Given the description of an element on the screen output the (x, y) to click on. 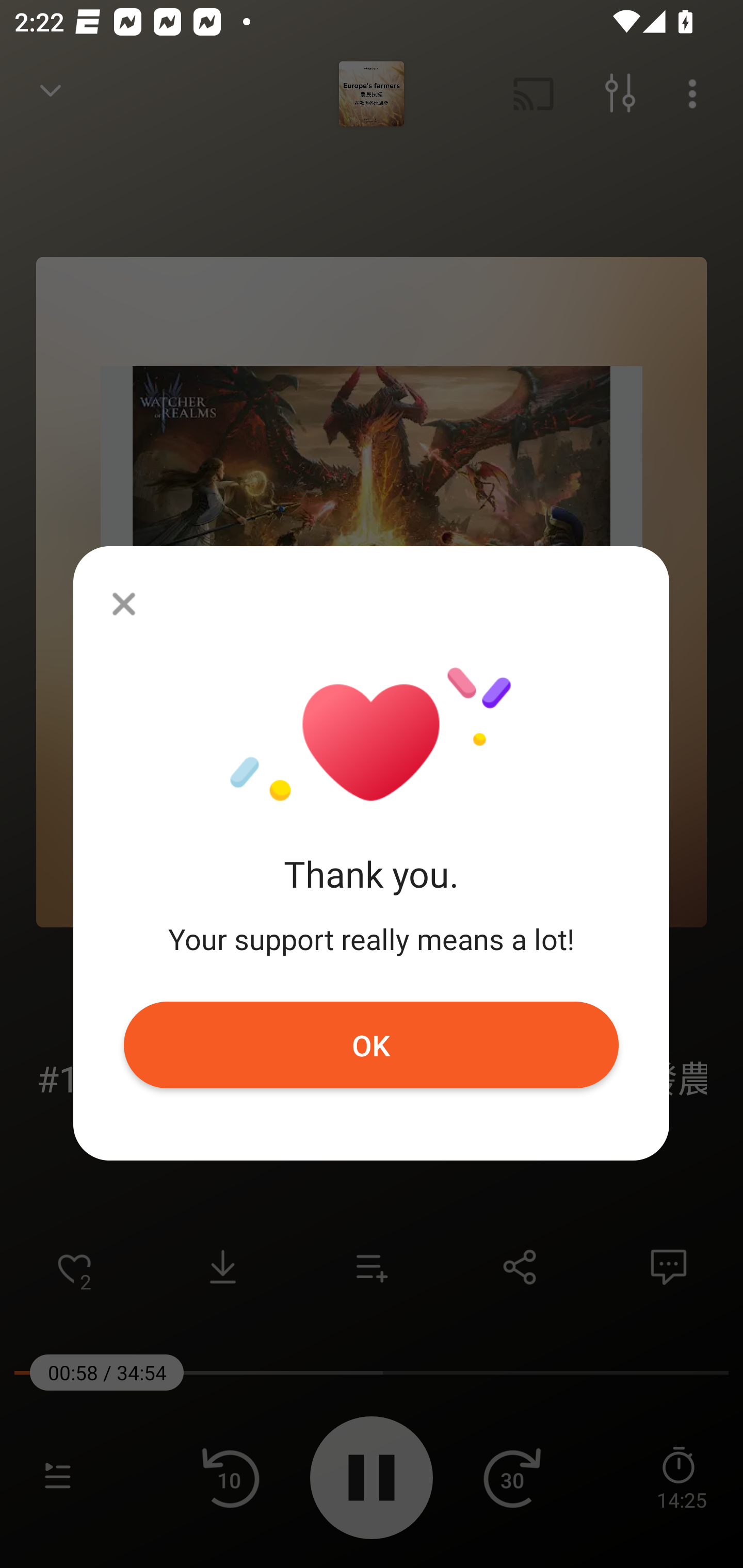
OK (371, 1044)
